Given the description of an element on the screen output the (x, y) to click on. 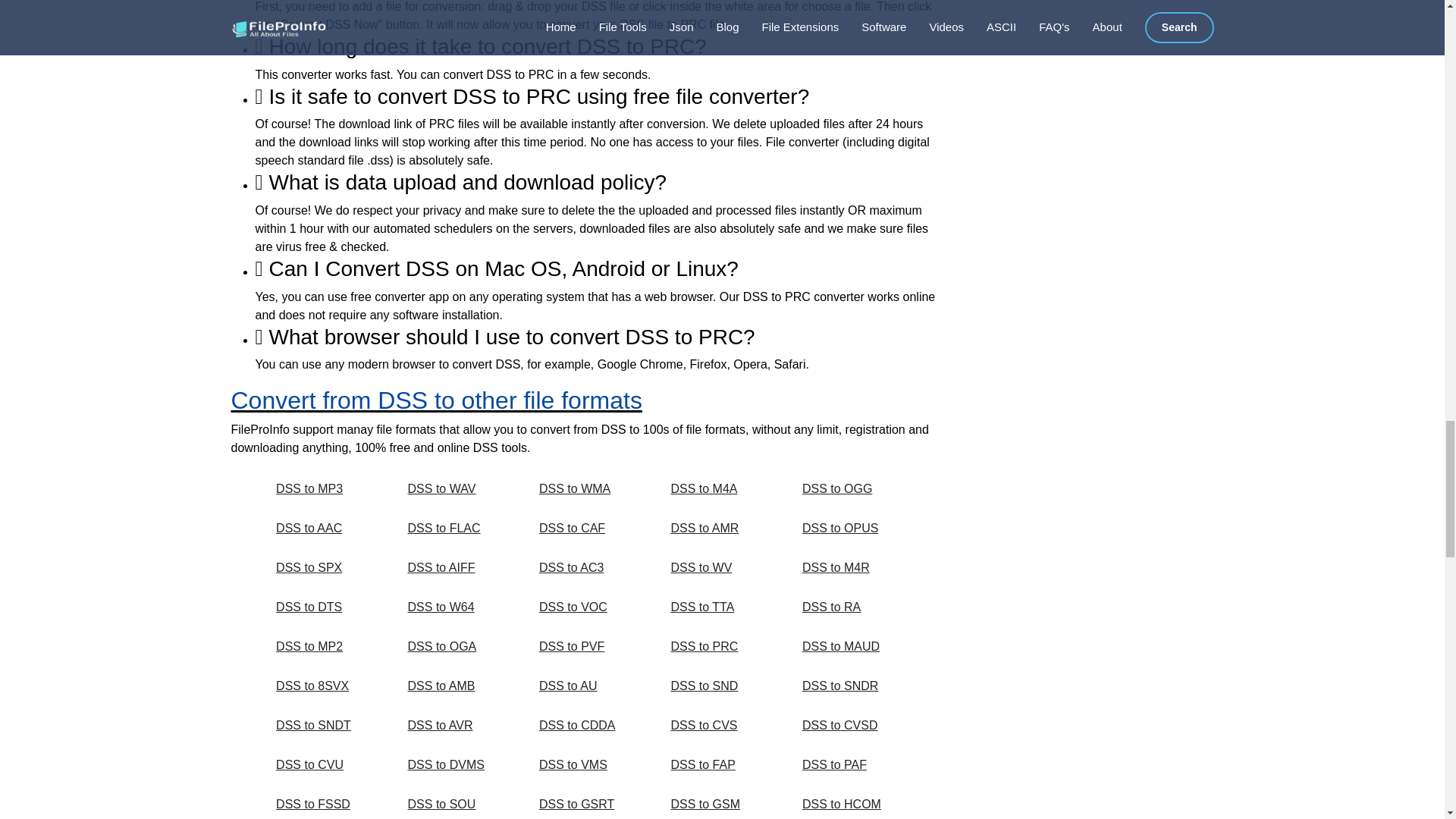
DSS to M4A (719, 489)
DSS to WMA (587, 489)
DSS to OGG (851, 489)
DSS to AAC (325, 528)
Convert from DSS to other file formats (436, 400)
DSS to MP3 (325, 489)
DSS to FLAC (456, 528)
DSS to WAV (456, 489)
